Given the description of an element on the screen output the (x, y) to click on. 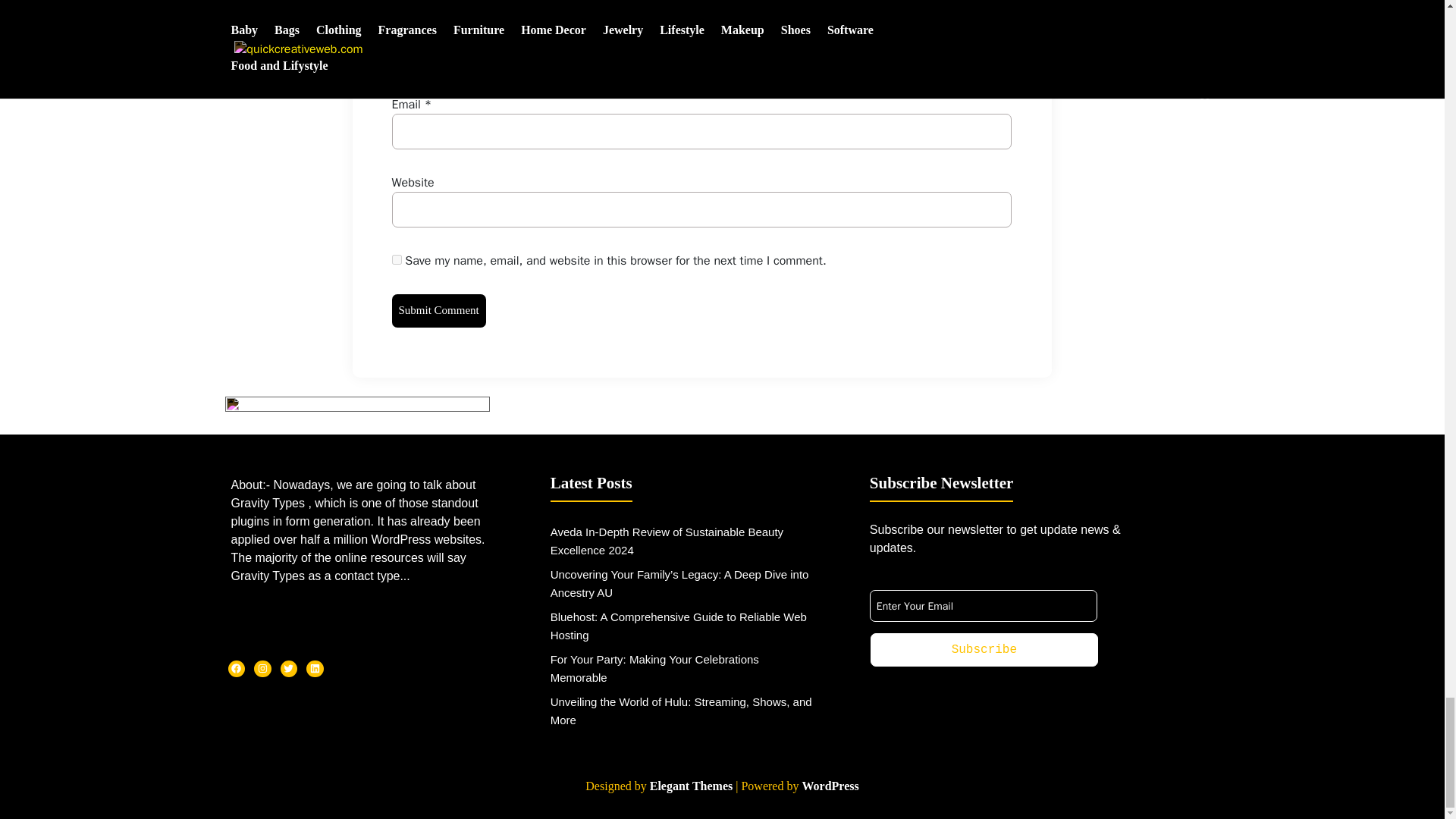
Bluehost: A Comprehensive Guide to Reliable Web Hosting (678, 625)
Premium WordPress Themes (690, 785)
Twitter (289, 669)
LinkedIn (314, 669)
yes (396, 259)
WordPress (830, 785)
Aveda In-Depth Review of Sustainable Beauty Excellence 2024 (666, 540)
Facebook (235, 669)
Unveiling the World of Hulu: Streaming, Shows, and More (681, 710)
Subscribe (983, 649)
